Given the description of an element on the screen output the (x, y) to click on. 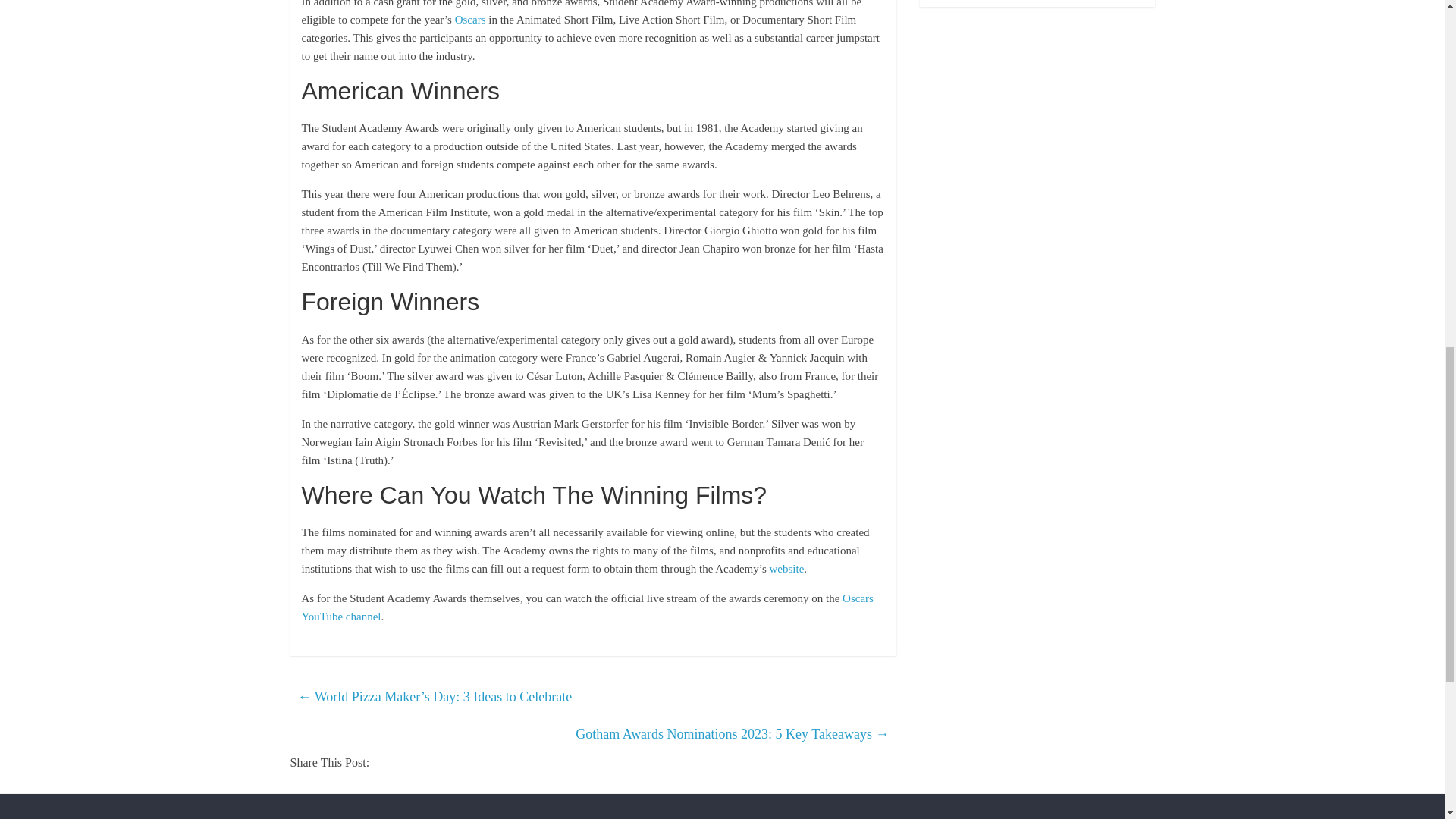
Oscars (470, 19)
website (785, 568)
Oscars YouTube channel (587, 607)
